Given the description of an element on the screen output the (x, y) to click on. 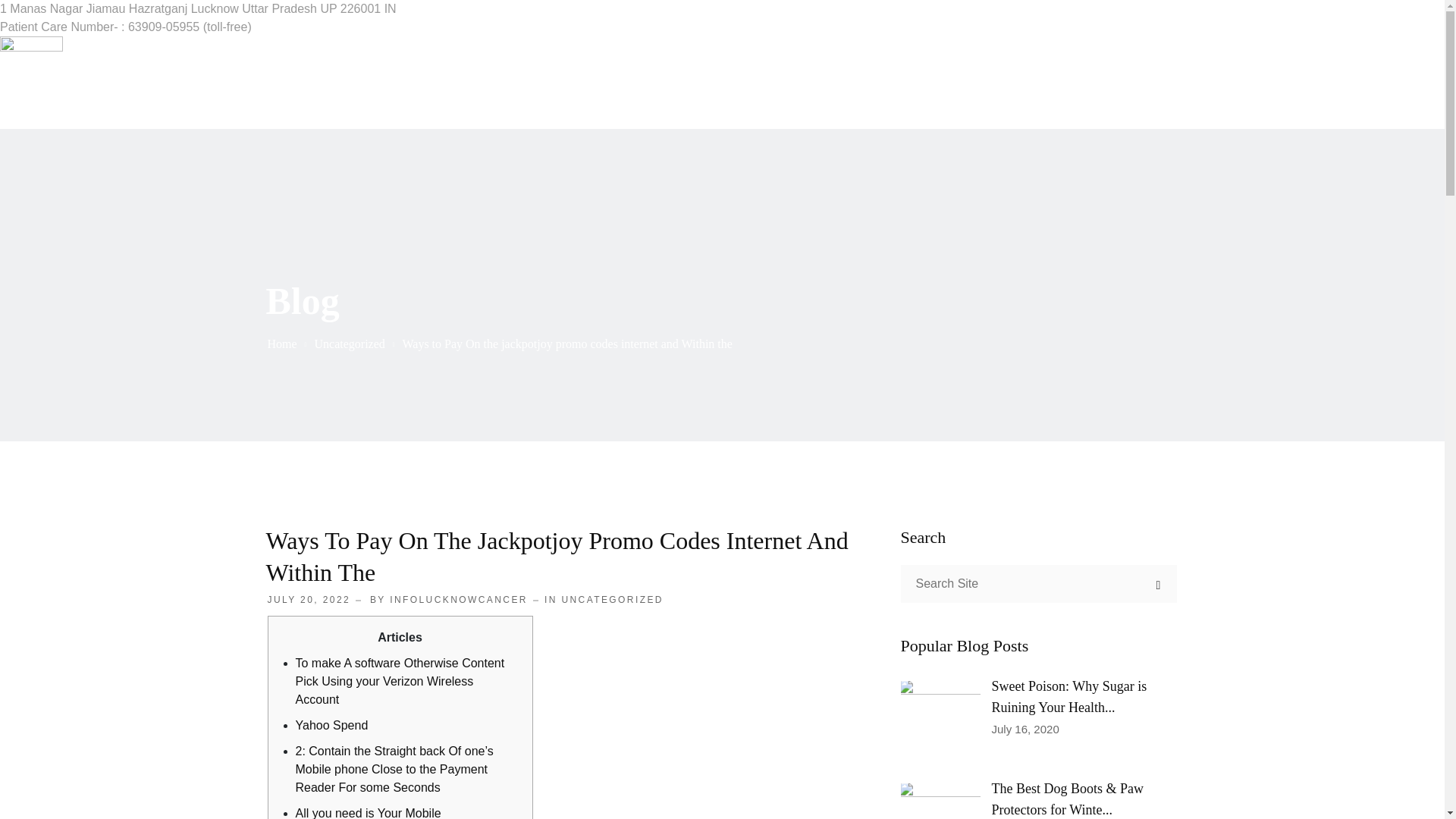
UNCATEGORIZED (611, 599)
Yahoo Spend (331, 725)
Uncategorized (349, 343)
INFOLUCKNOWCANCER (458, 599)
Sweet Poison: Why Sugar is Ruining Your Health... (1069, 696)
Home (281, 343)
All you need is Your Mobile (368, 812)
JULY 20, 2022 (308, 599)
